Given the description of an element on the screen output the (x, y) to click on. 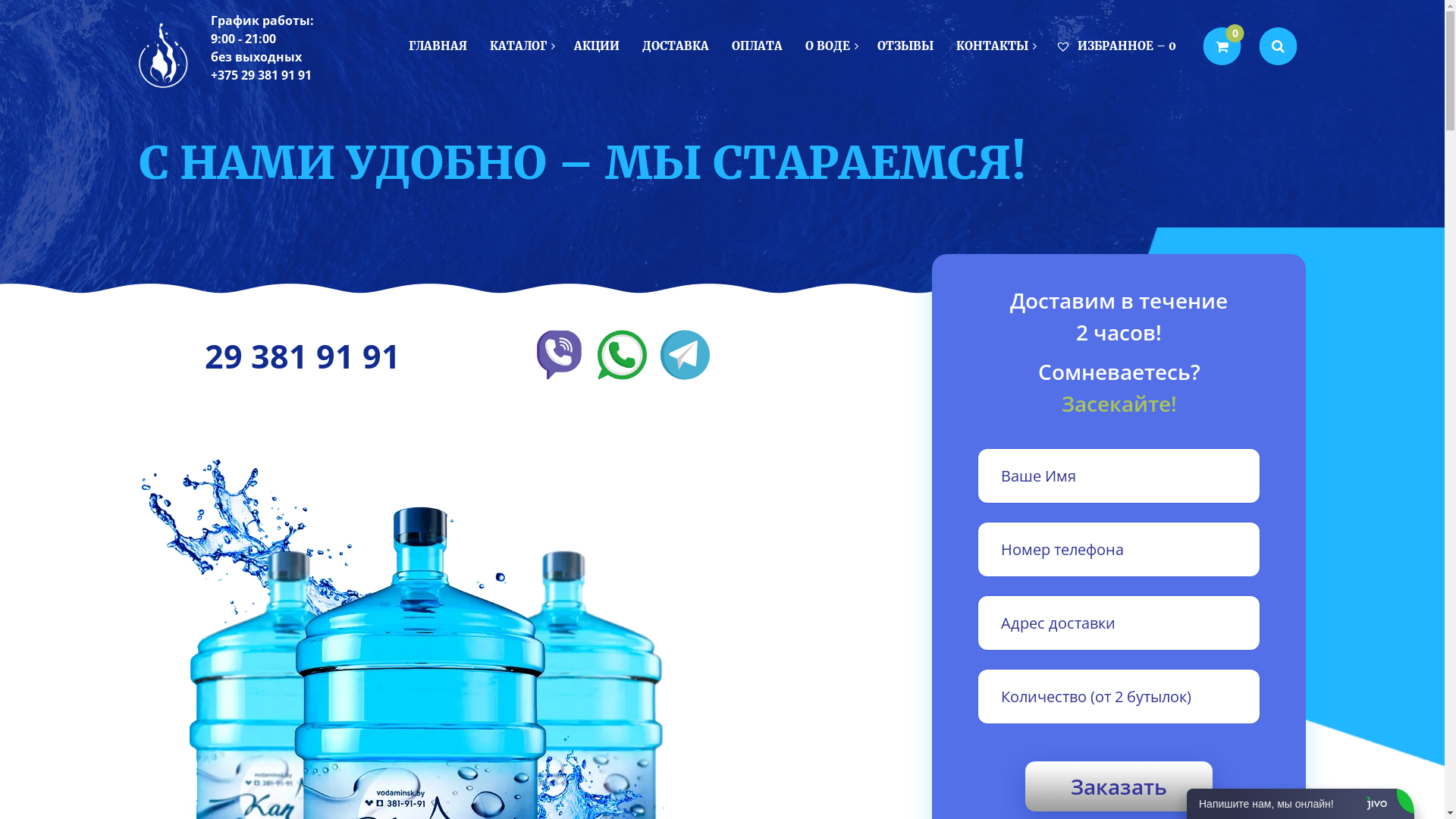
0 Element type: text (1221, 46)
29 381 91 91 Element type: text (302, 355)
+375 29 381 91 91 Element type: text (260, 74)
